Given the description of an element on the screen output the (x, y) to click on. 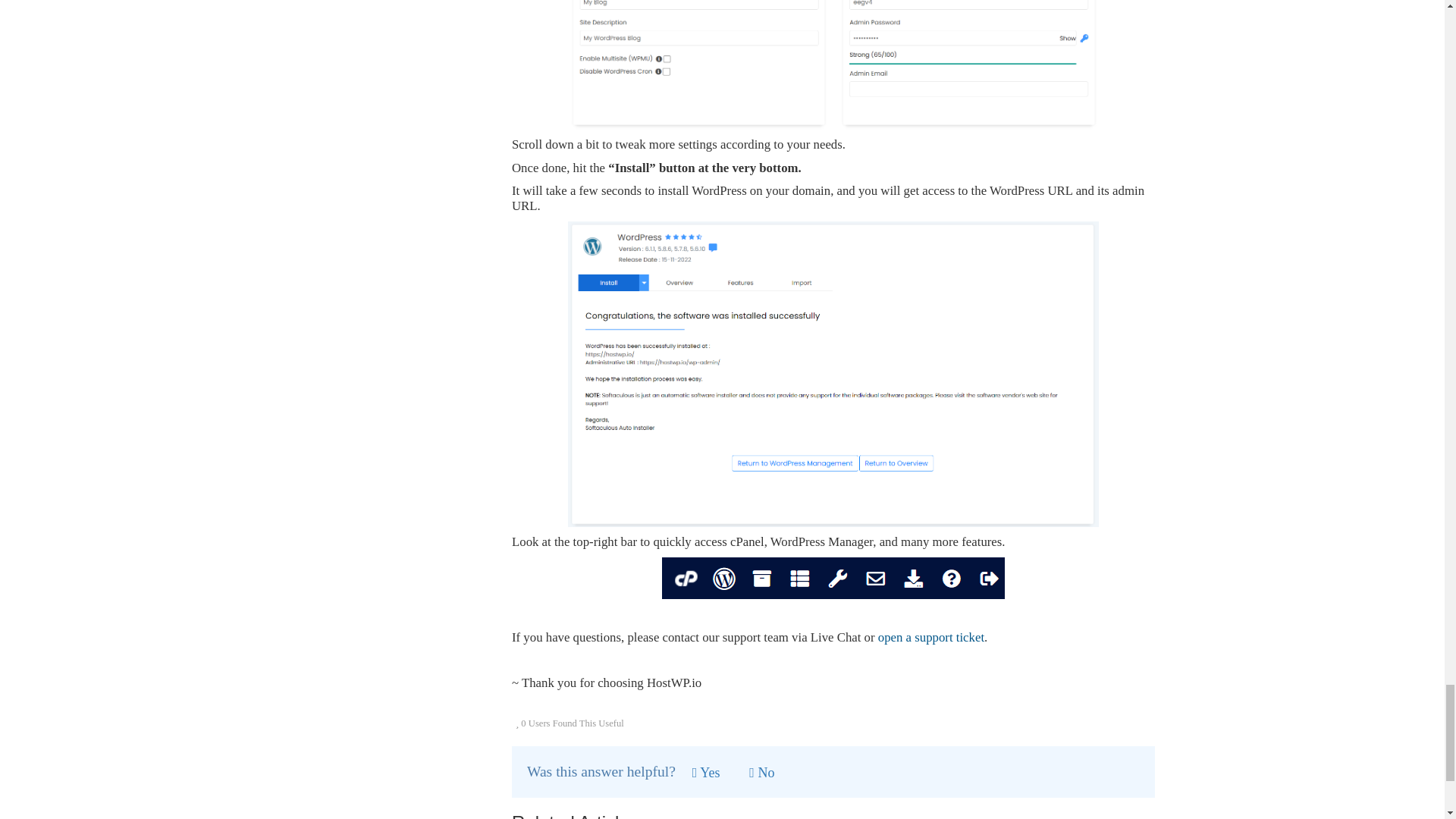
No (761, 772)
Yes (706, 772)
open a support ticket (930, 636)
